Given the description of an element on the screen output the (x, y) to click on. 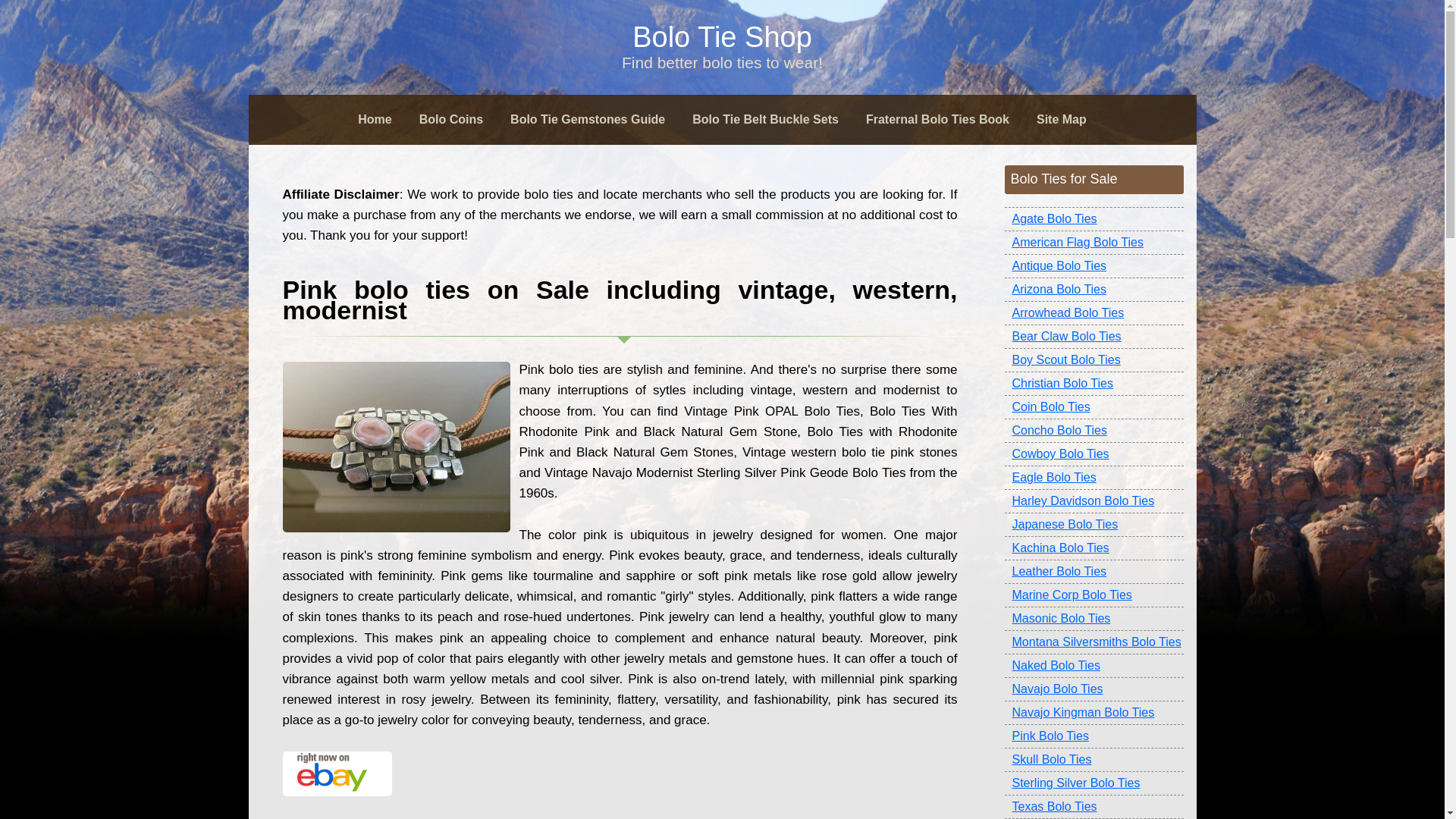
Boy Scout Bolo Ties (1093, 360)
Bolo Tie Gemstones Guide (587, 119)
Bolo Coins (451, 119)
Kachina Bolo Ties (1093, 548)
Eagle Bolo Ties (1093, 477)
Bolo Tie Belt Buckle Sets (764, 119)
Arrowhead Bolo Ties (1093, 313)
Christian Bolo Ties (1093, 383)
Bolo Tie Shop (721, 37)
Bear Claw Bolo Ties (1093, 336)
Arizona Bolo Ties (1093, 290)
Cowboy Bolo Ties (1093, 454)
Home (373, 119)
Coin Bolo Ties (1093, 407)
Antique Bolo Ties (1093, 266)
